Given the description of an element on the screen output the (x, y) to click on. 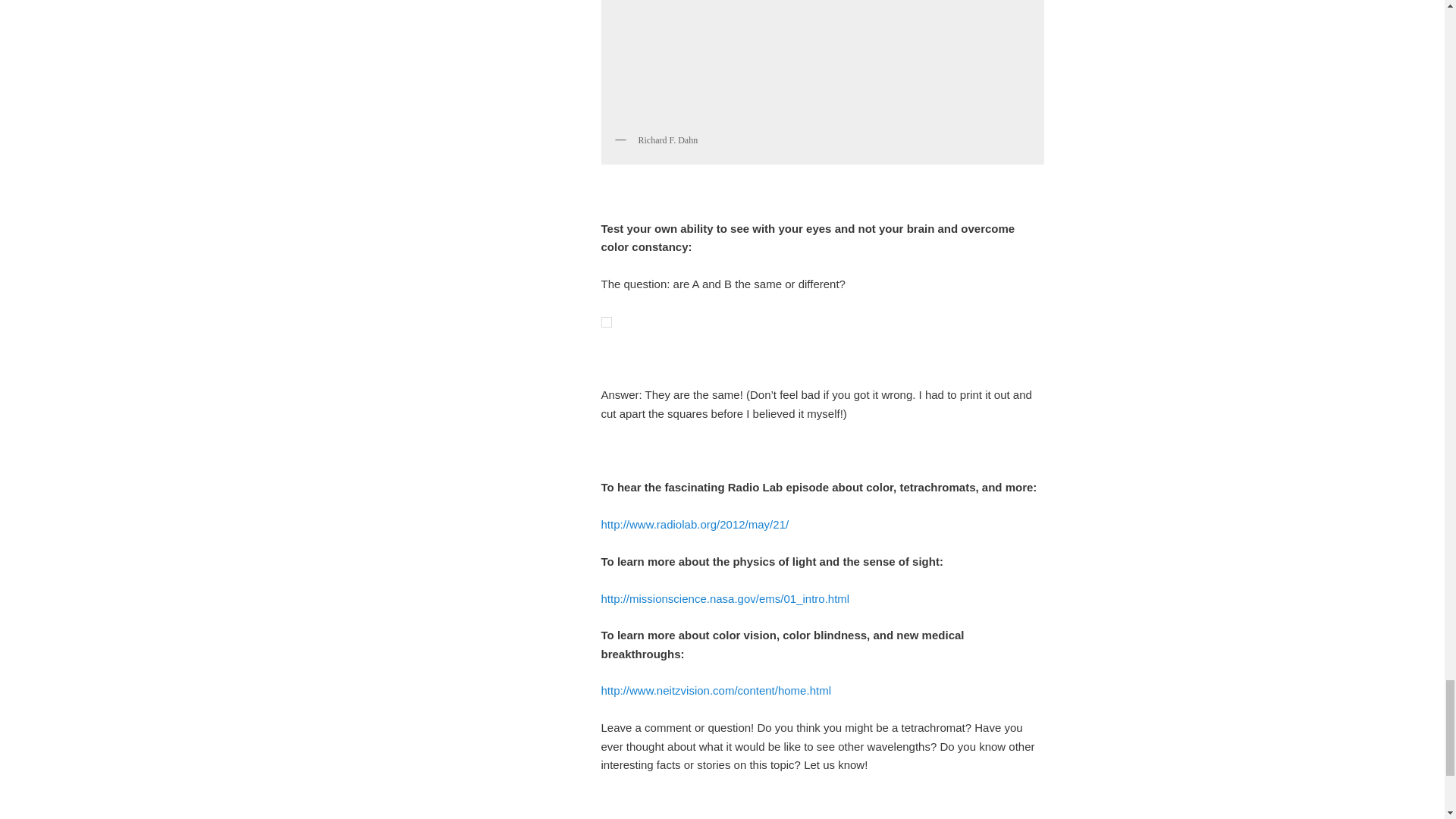
3 (822, 63)
